Given the description of an element on the screen output the (x, y) to click on. 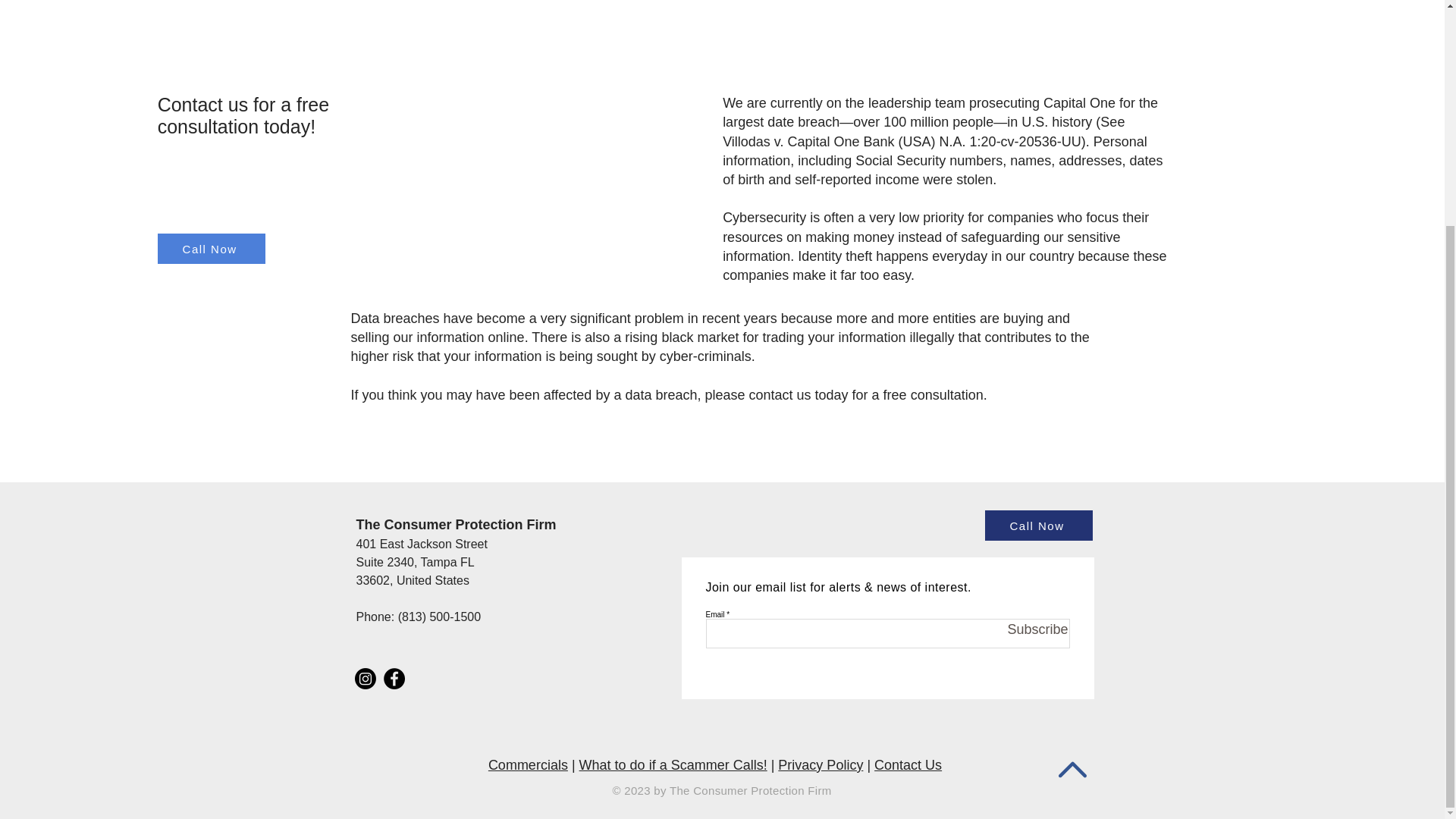
Subscribe (1026, 629)
Contact Us (908, 765)
Commercials (527, 765)
Call Now (210, 248)
Call Now (1038, 525)
Privacy Policy (820, 765)
What to do if a Scammer Calls! (673, 765)
